Given the description of an element on the screen output the (x, y) to click on. 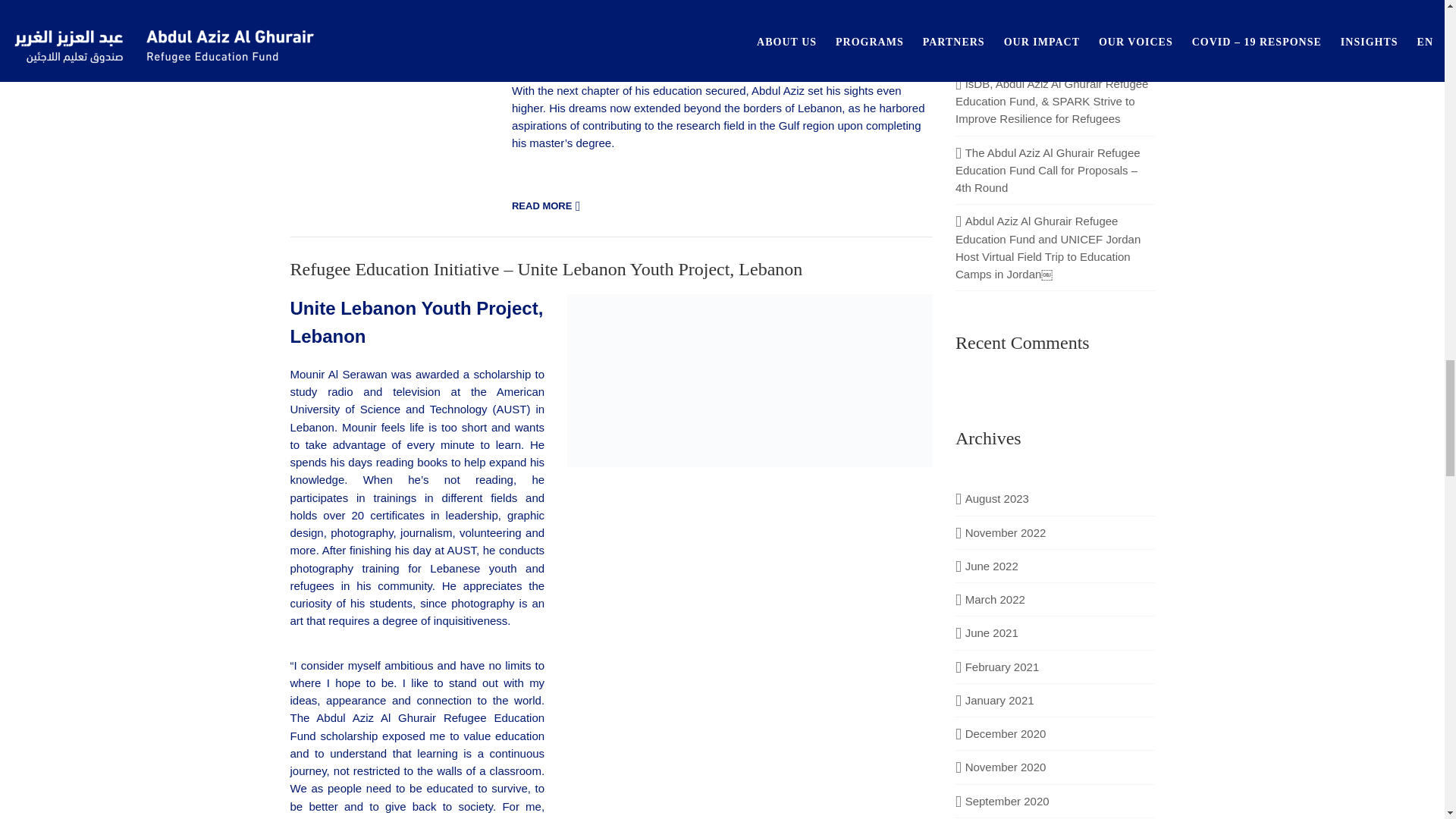
READ MORE (548, 206)
